Given the description of an element on the screen output the (x, y) to click on. 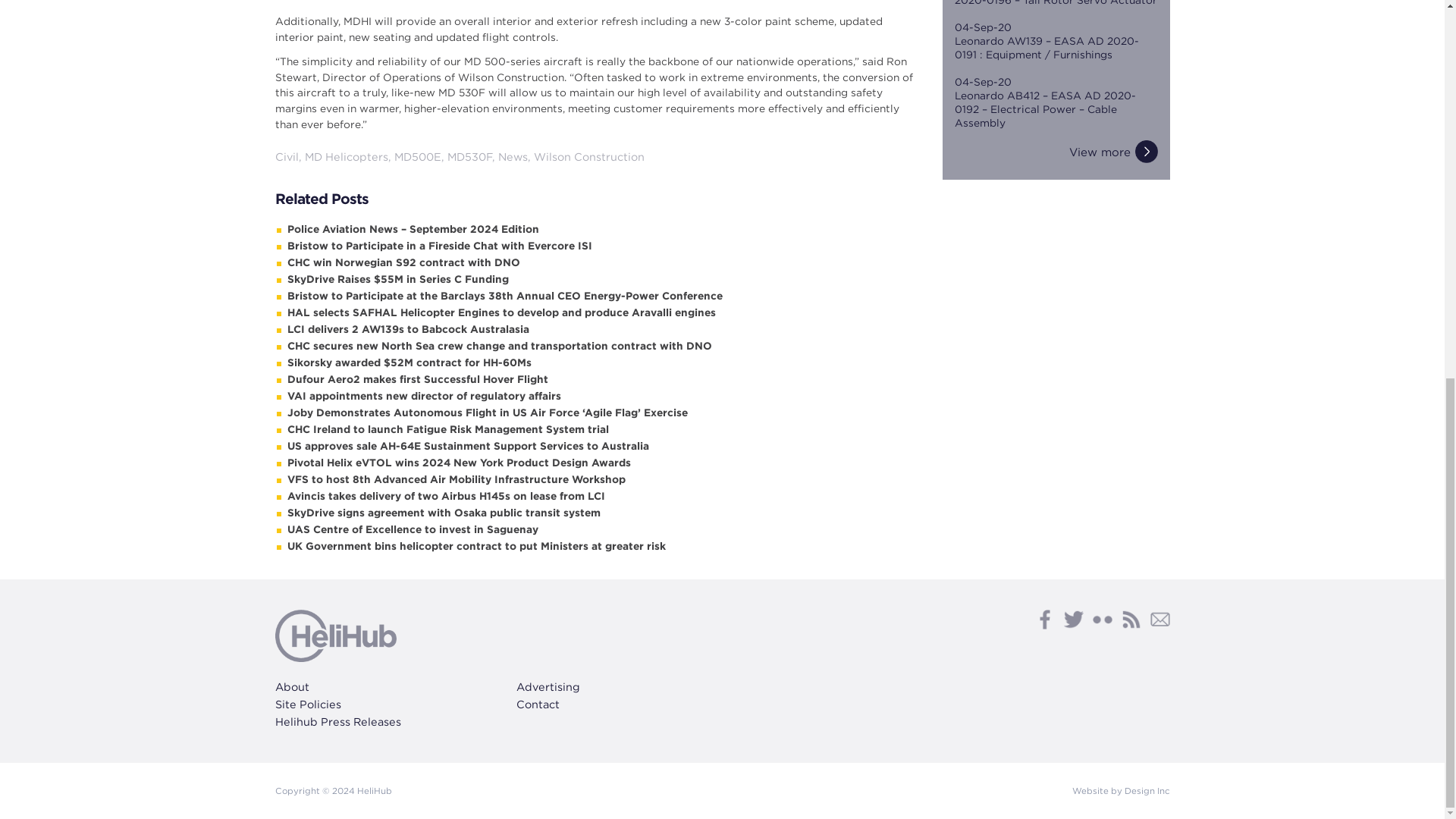
Facebook (1043, 619)
Subscribe (1159, 619)
Helihub (335, 634)
RSS (1130, 619)
Twitter (1072, 619)
Flickr (1102, 619)
